Given the description of an element on the screen output the (x, y) to click on. 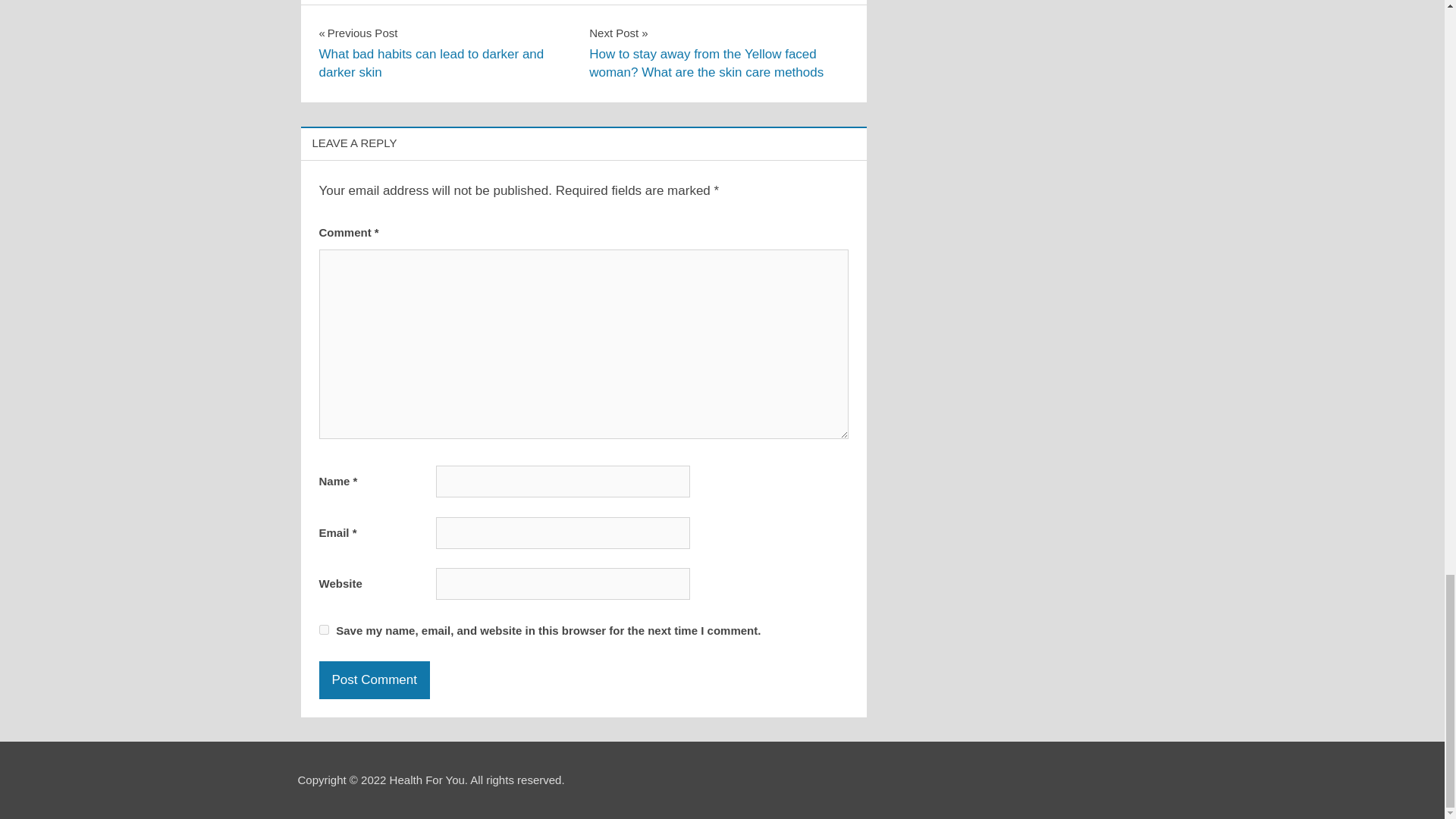
Post Comment (373, 679)
yes (323, 629)
Post Comment (373, 679)
